Given the description of an element on the screen output the (x, y) to click on. 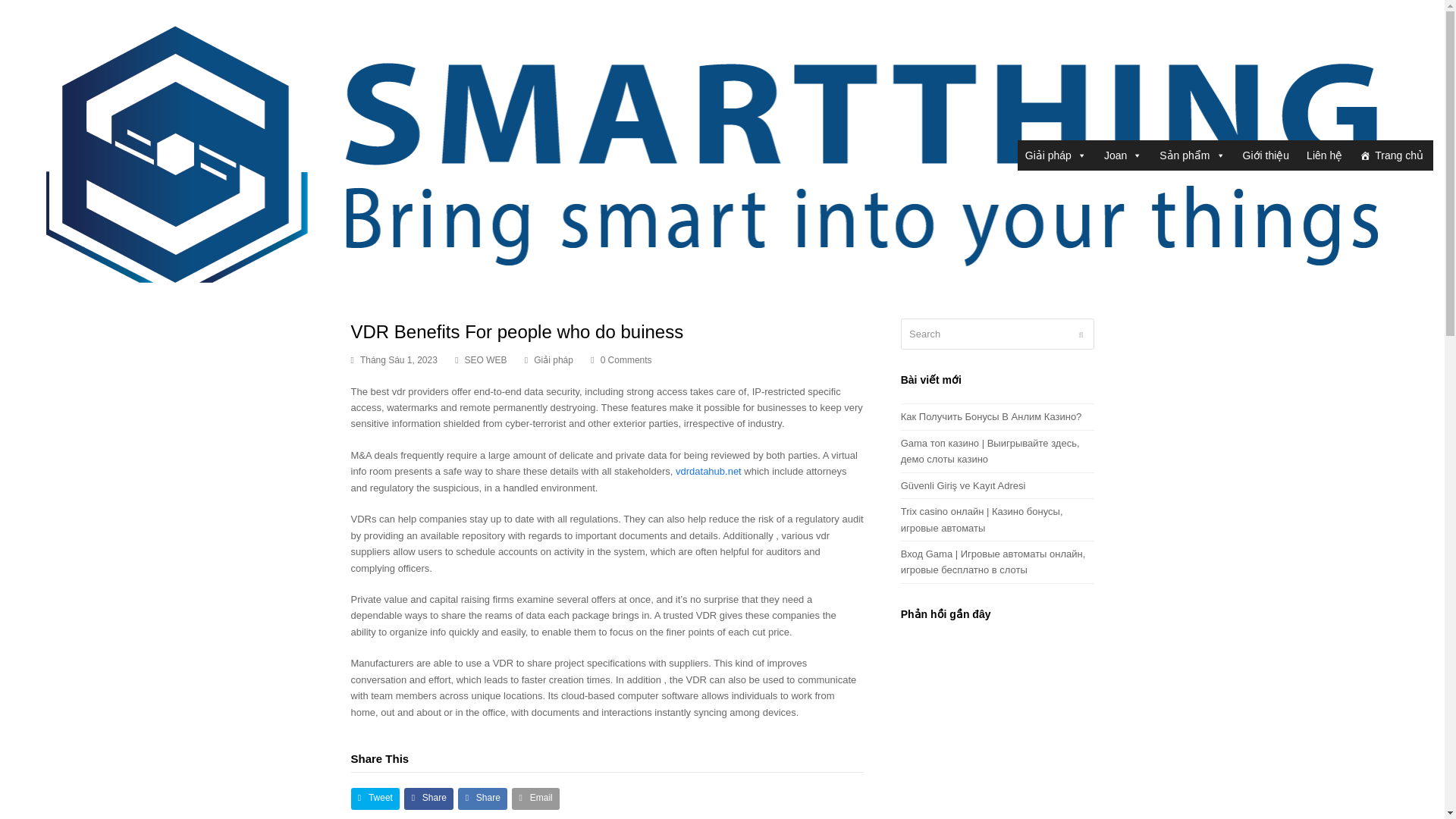
0 Comments (620, 360)
Joan (1123, 155)
